Given the description of an element on the screen output the (x, y) to click on. 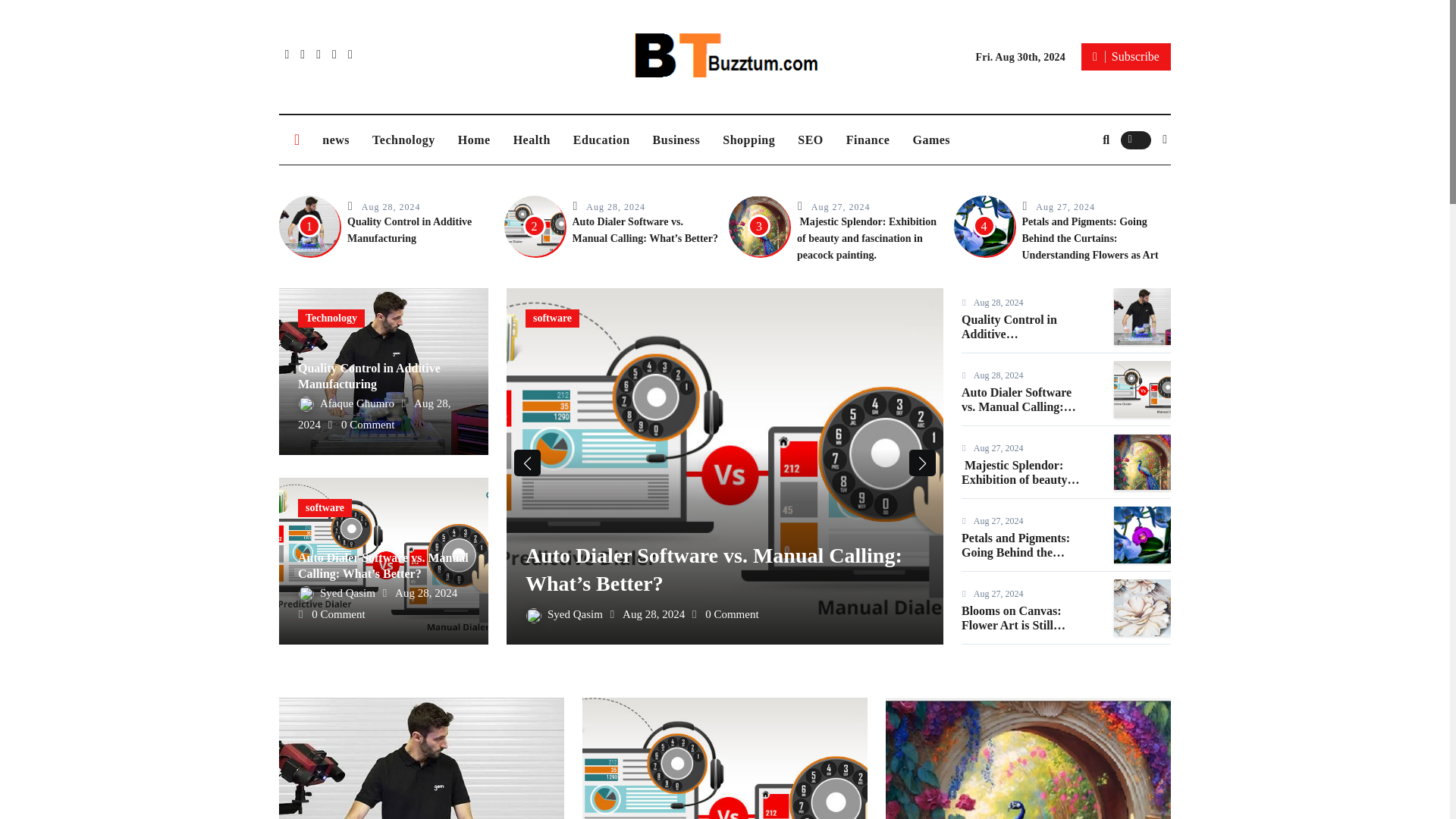
Shopping (748, 139)
Health (532, 139)
Health (532, 139)
Games (930, 139)
Subscribe (1125, 56)
news (336, 139)
Business (676, 139)
Shopping (748, 139)
Home (474, 139)
